Given the description of an element on the screen output the (x, y) to click on. 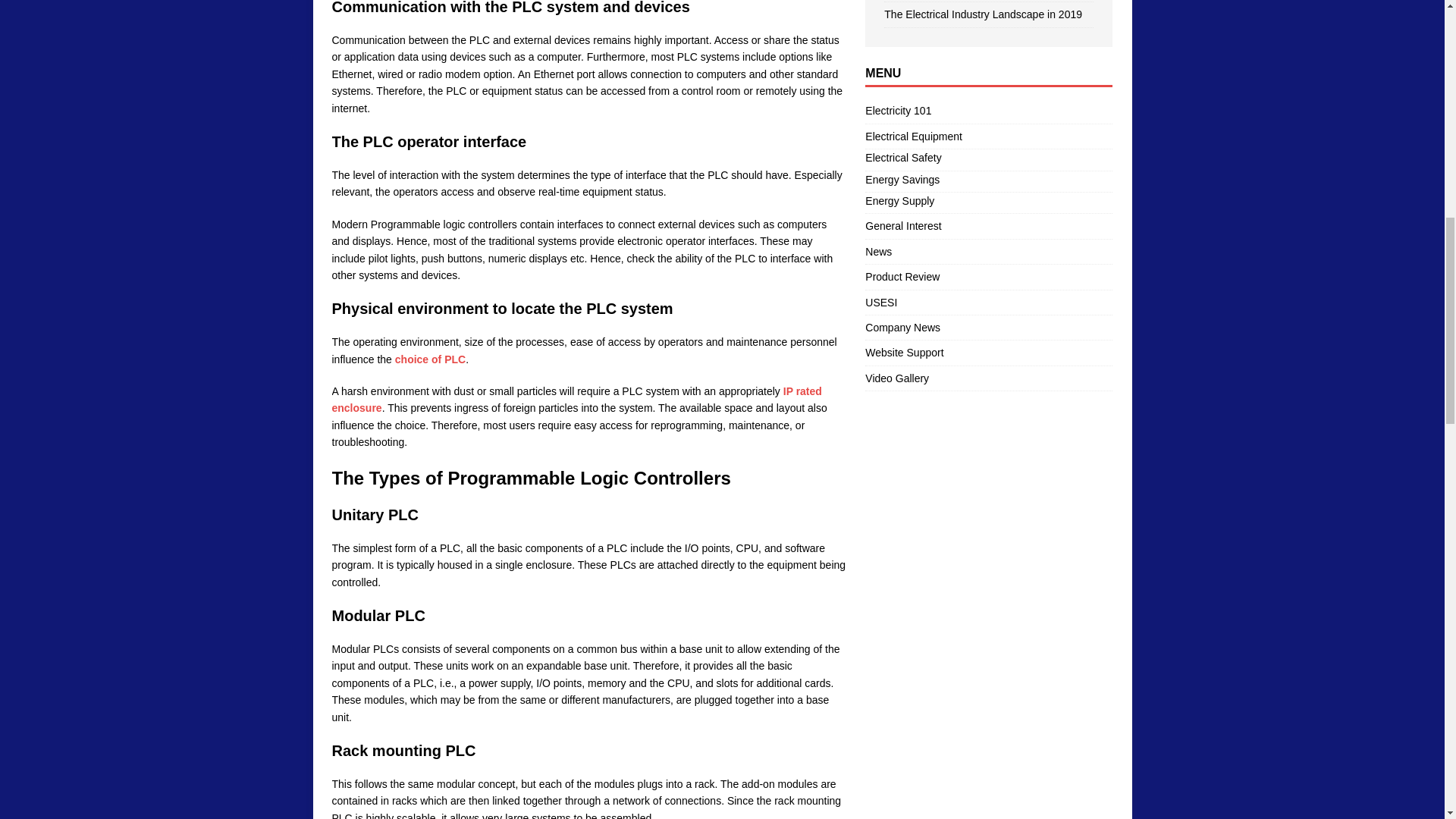
choice of PLC (429, 358)
IP rated enclosure (576, 399)
